Given the description of an element on the screen output the (x, y) to click on. 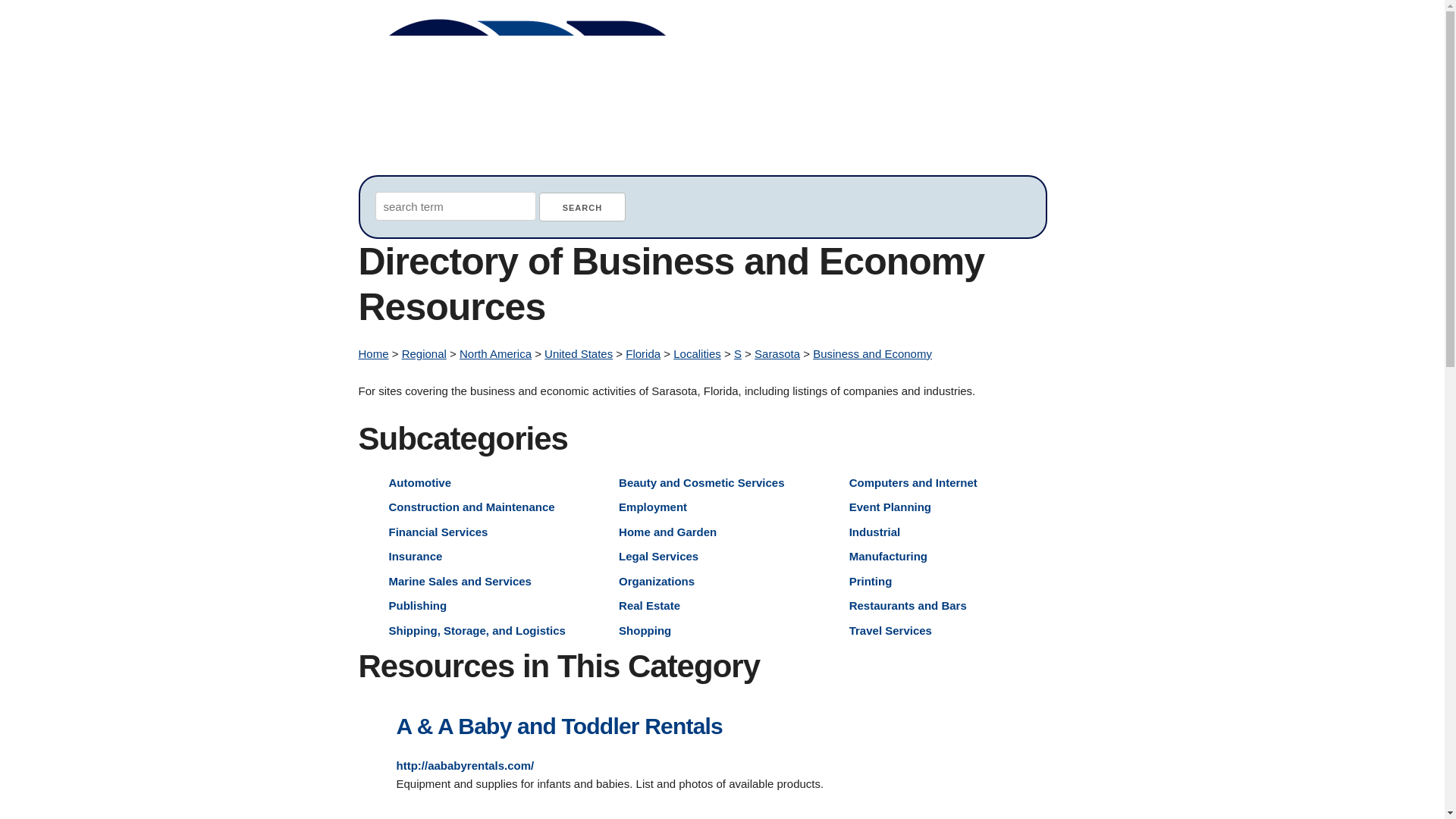
Publishing (417, 604)
Florida (643, 353)
Legal Services (658, 555)
Manufacturing (887, 555)
United States (578, 353)
Automotive (419, 481)
Sarasota (776, 353)
Real Estate (648, 604)
Localities (696, 353)
Event Planning (889, 506)
North America (495, 353)
Financial Services (437, 530)
Business and Economy (871, 353)
Construction and Maintenance (471, 506)
Industrial (874, 530)
